Given the description of an element on the screen output the (x, y) to click on. 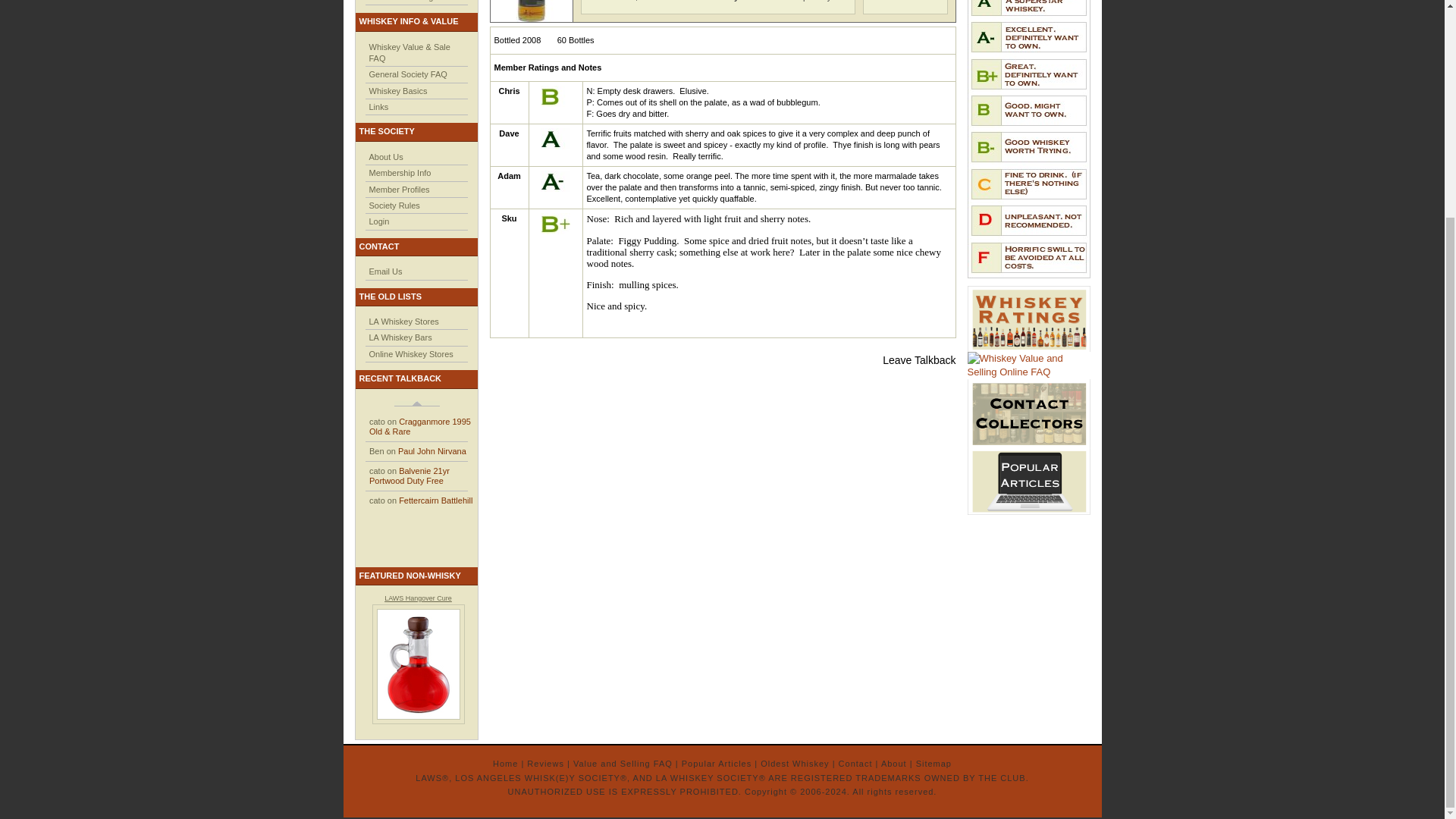
Chris (508, 90)
Reviews (545, 763)
About Our Ratings (403, 0)
General Society FAQ (407, 73)
Member Profiles (398, 189)
Sku (508, 217)
Email Us (384, 271)
LA Whiskey Bars (399, 337)
Value and Selling FAQ (622, 763)
Adam (509, 175)
